Given the description of an element on the screen output the (x, y) to click on. 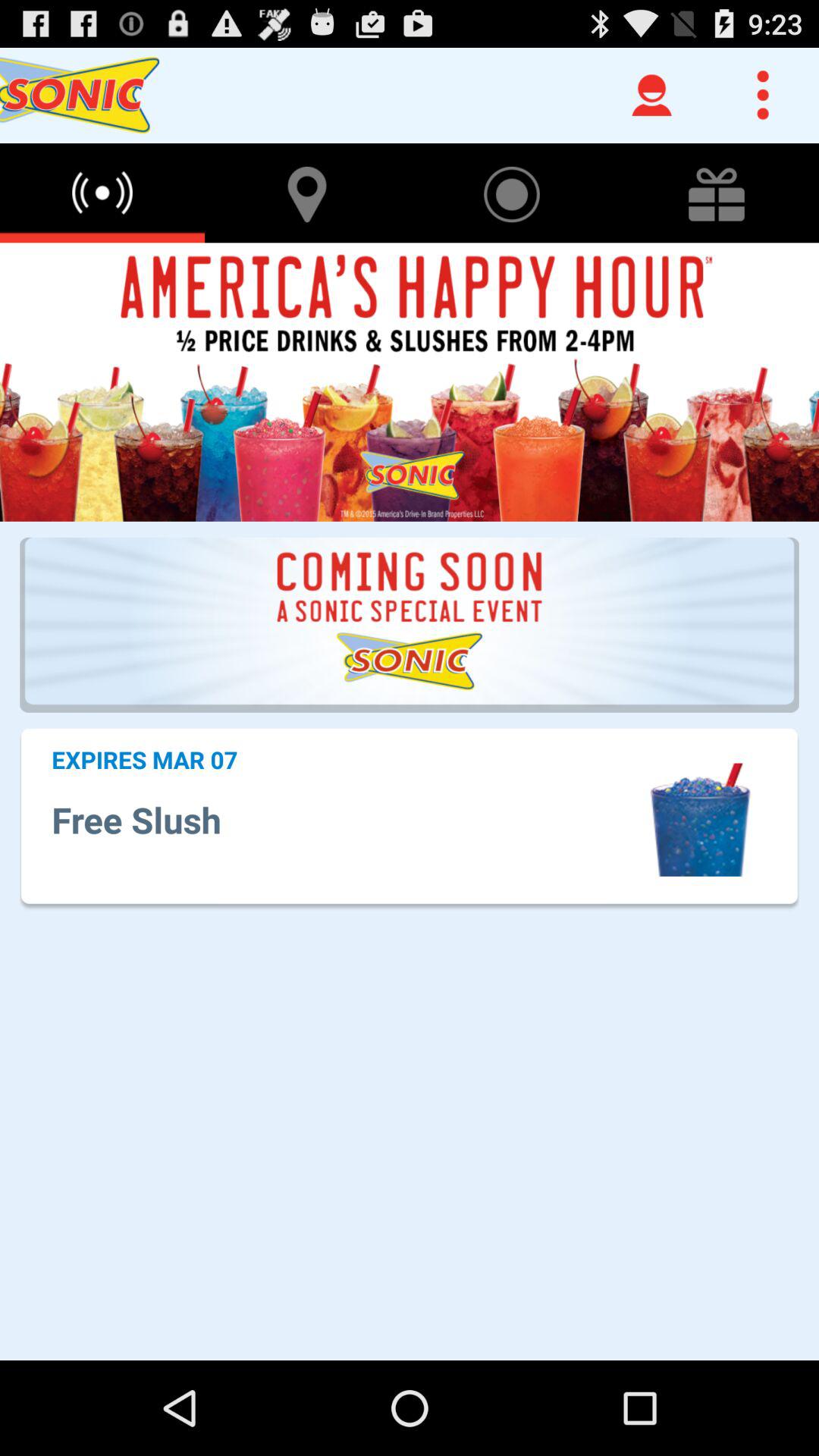
tap the app below the expires mar 07 icon (346, 819)
